Given the description of an element on the screen output the (x, y) to click on. 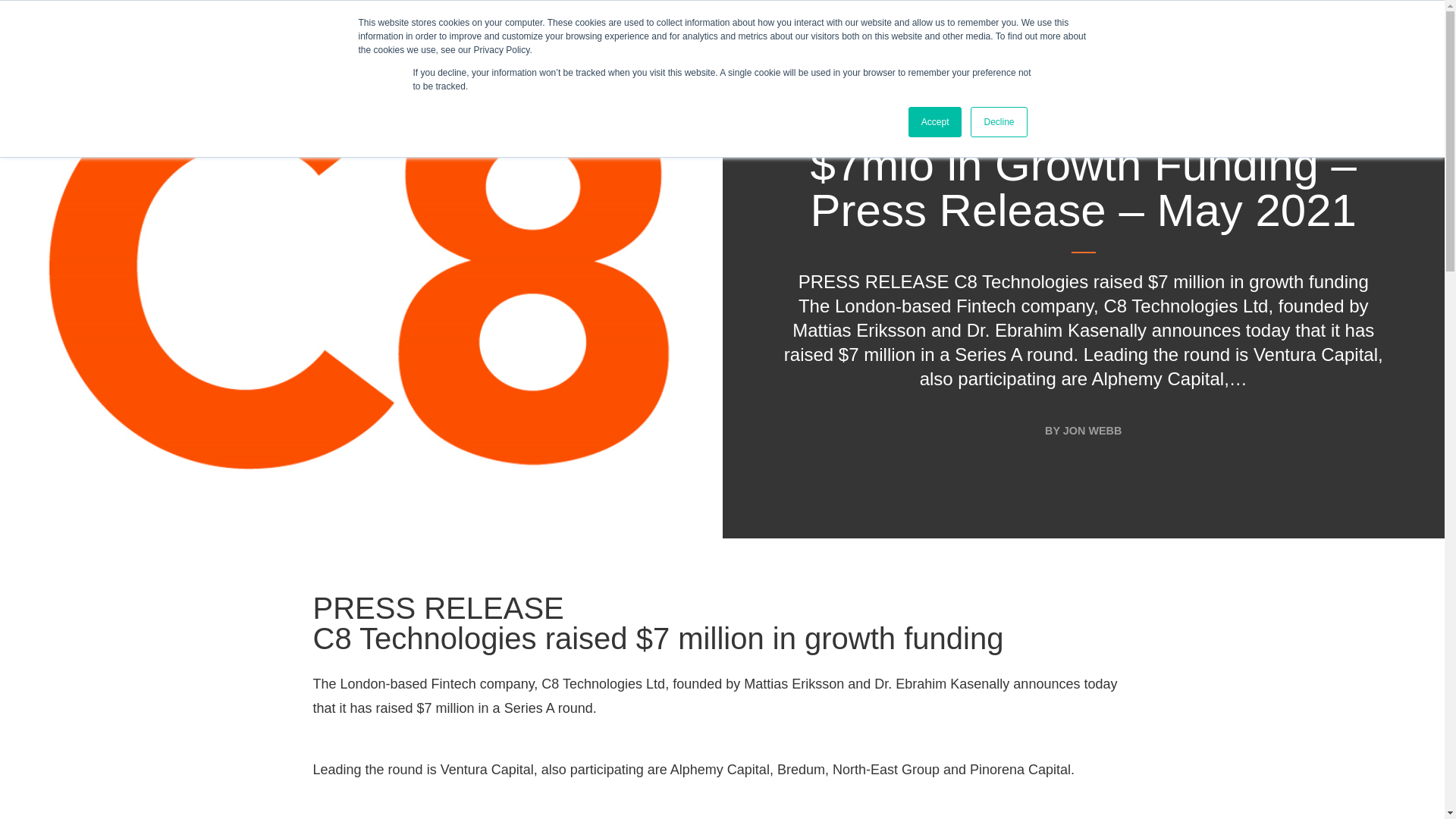
Decline (998, 122)
Accept (935, 122)
